Given the description of an element on the screen output the (x, y) to click on. 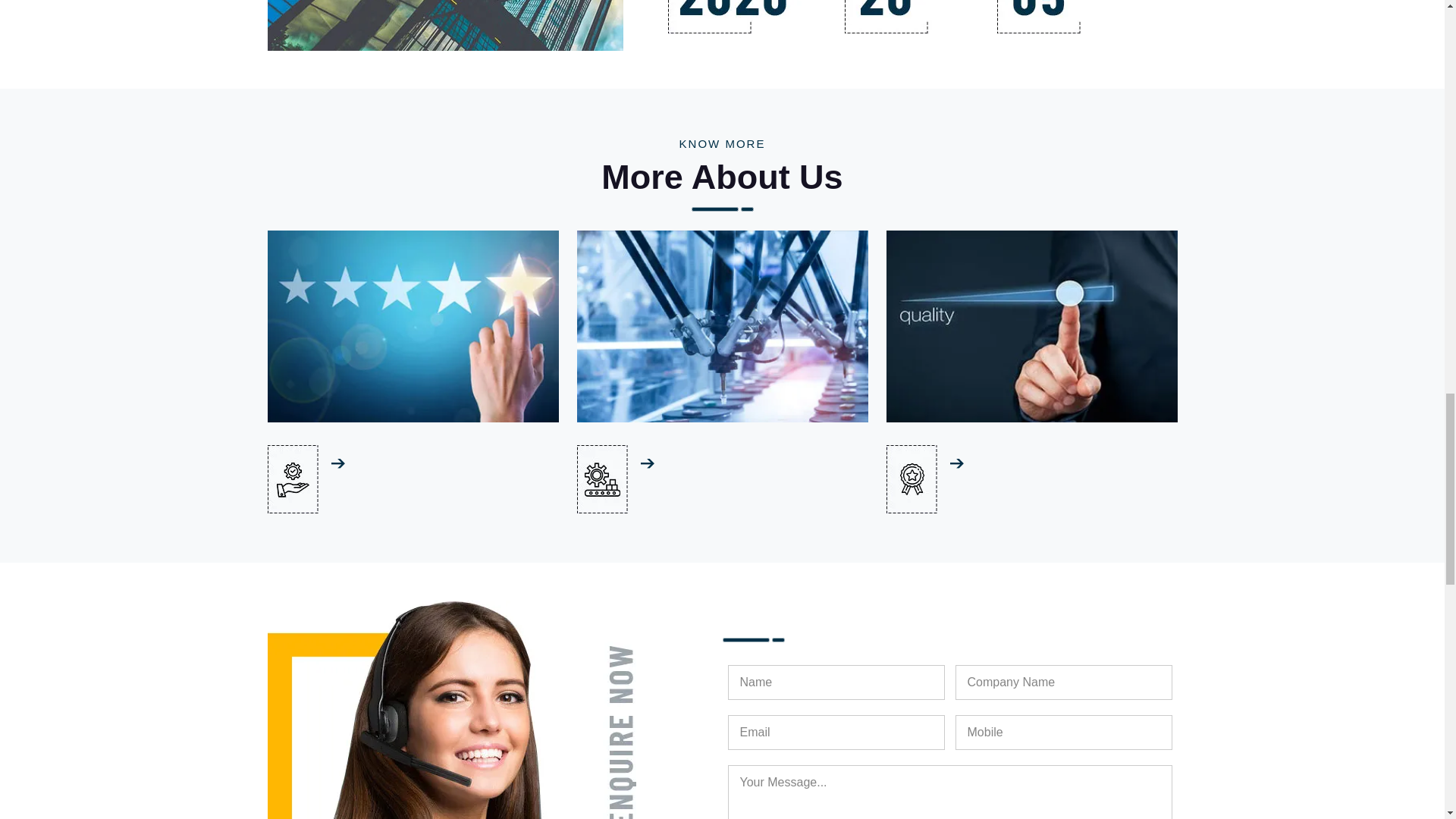
Mobile (1063, 732)
Company Name (1063, 682)
Name (836, 682)
Email (836, 732)
